Given the description of an element on the screen output the (x, y) to click on. 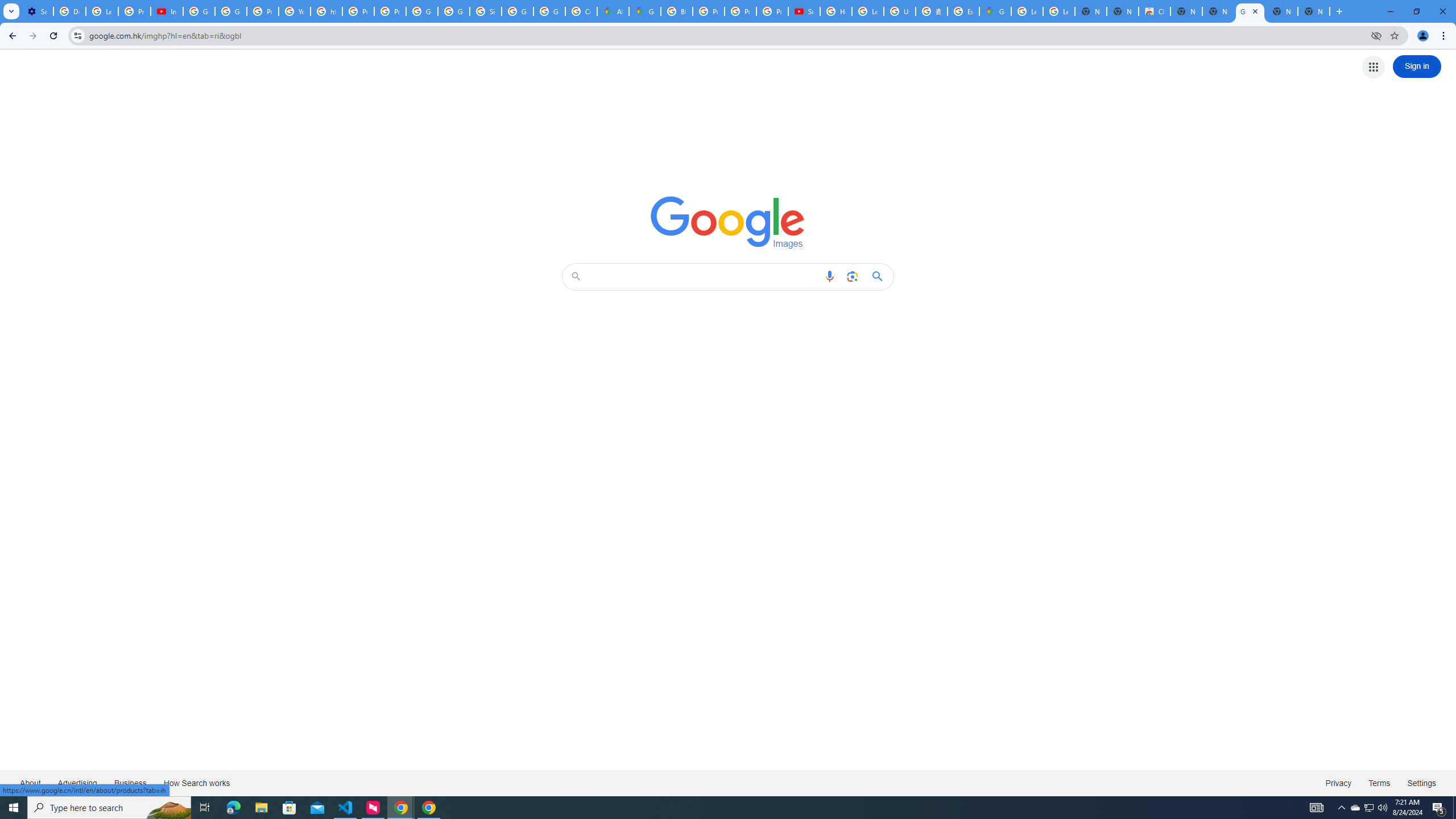
Privacy Help Center - Policies Help (262, 11)
Chrome Web Store (1154, 11)
Settings - Customize profile (37, 11)
Explore new street-level details - Google Maps Help (963, 11)
How Chrome protects your passwords - Google Chrome Help (836, 11)
YouTube (294, 11)
Privacy Help Center - Policies Help (708, 11)
New Tab (1313, 11)
